Given the description of an element on the screen output the (x, y) to click on. 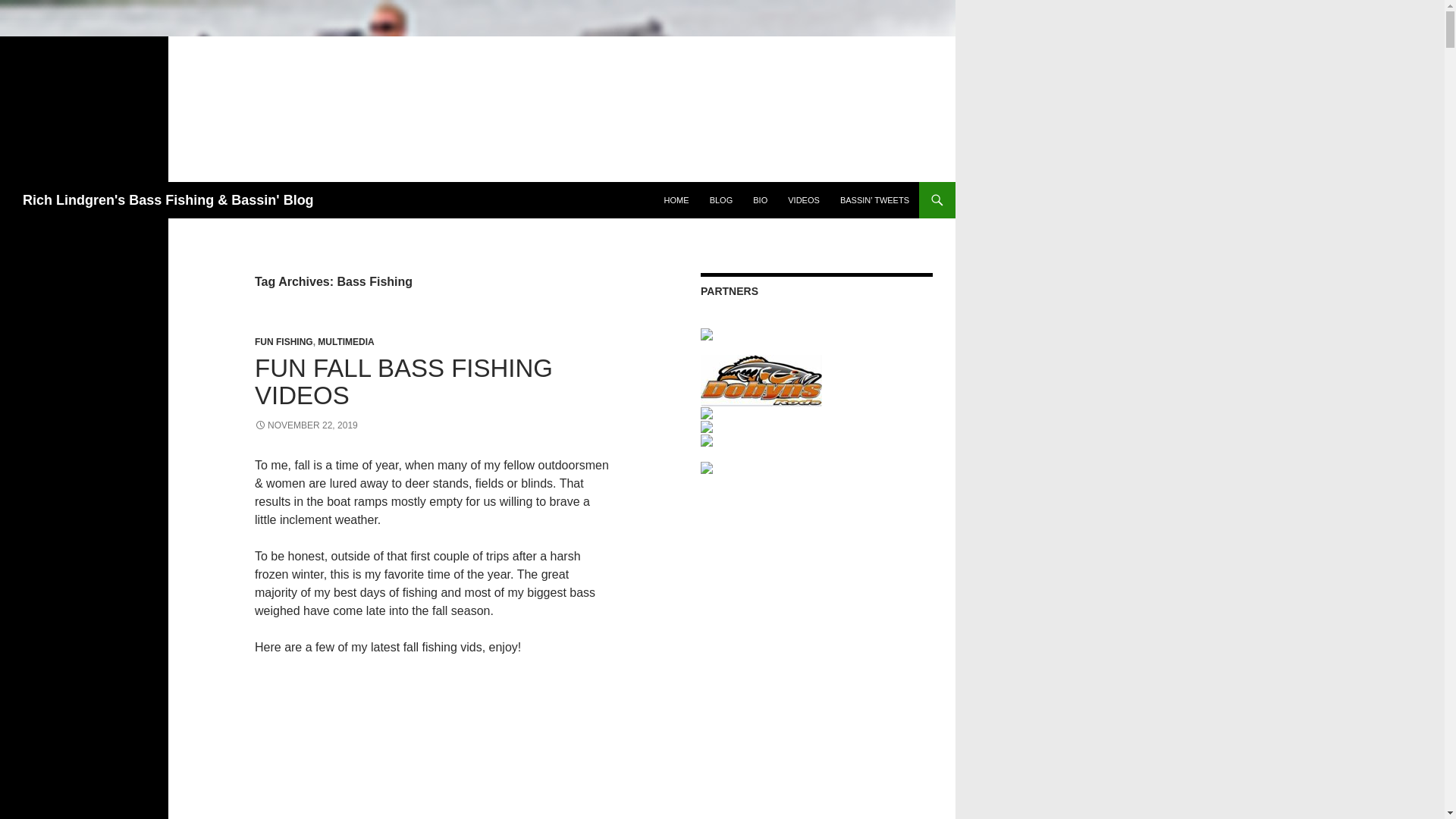
BIO (760, 199)
NOVEMBER 22, 2019 (306, 425)
HOME (676, 199)
FUN FALL BASS FISHING VIDEOS (403, 381)
MULTIMEDIA (345, 341)
FUN FISHING (283, 341)
PB ALERT - Most EPIC Day of Fall Bass Fishing Ever! MEGA BAG (434, 746)
VIDEOS (803, 199)
